Given the description of an element on the screen output the (x, y) to click on. 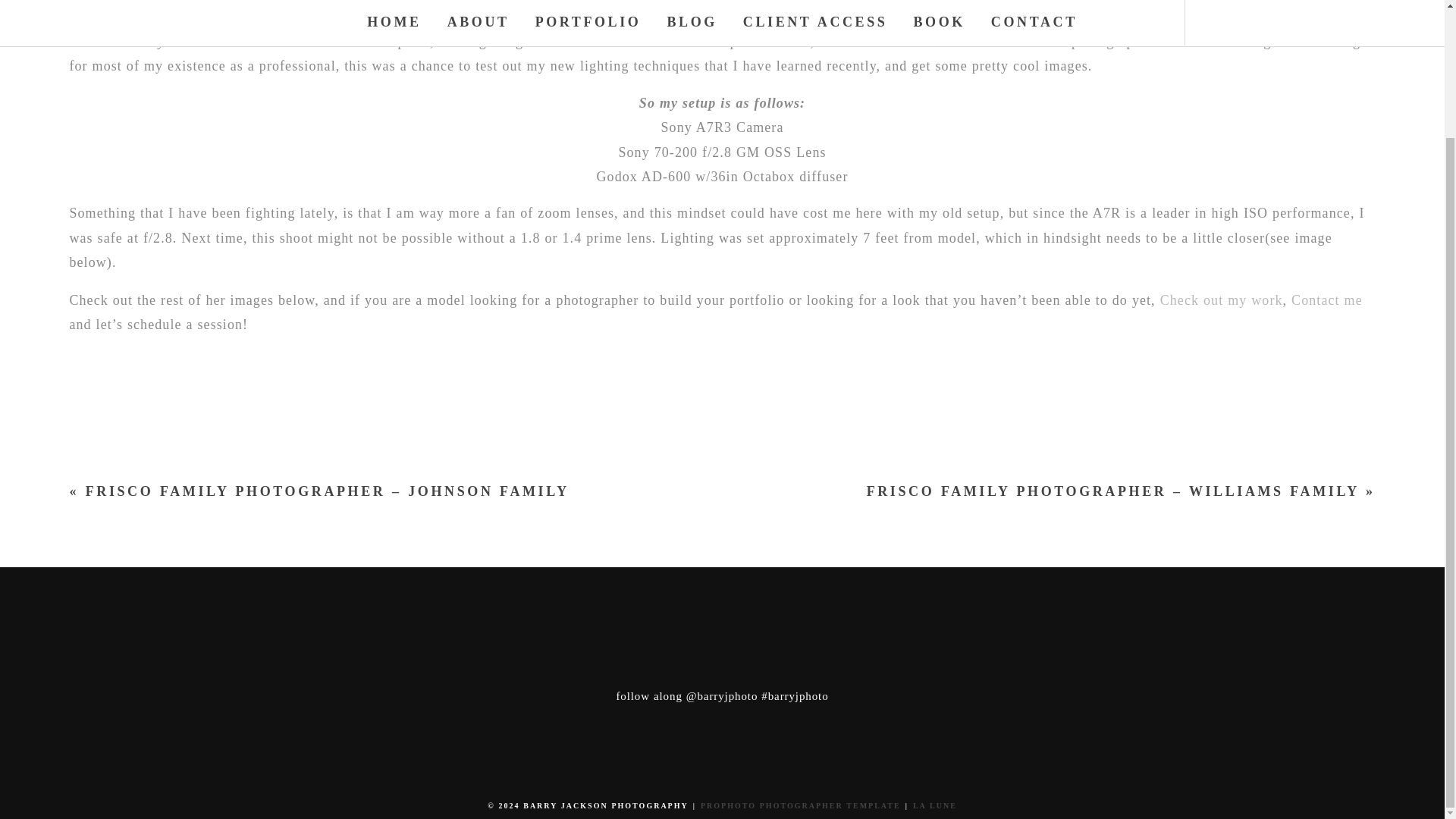
ProPhoto theme (800, 805)
Check out my work (1221, 299)
UTubeSensations Kids YouTube channel (780, 17)
Contact me (1326, 299)
